Given the description of an element on the screen output the (x, y) to click on. 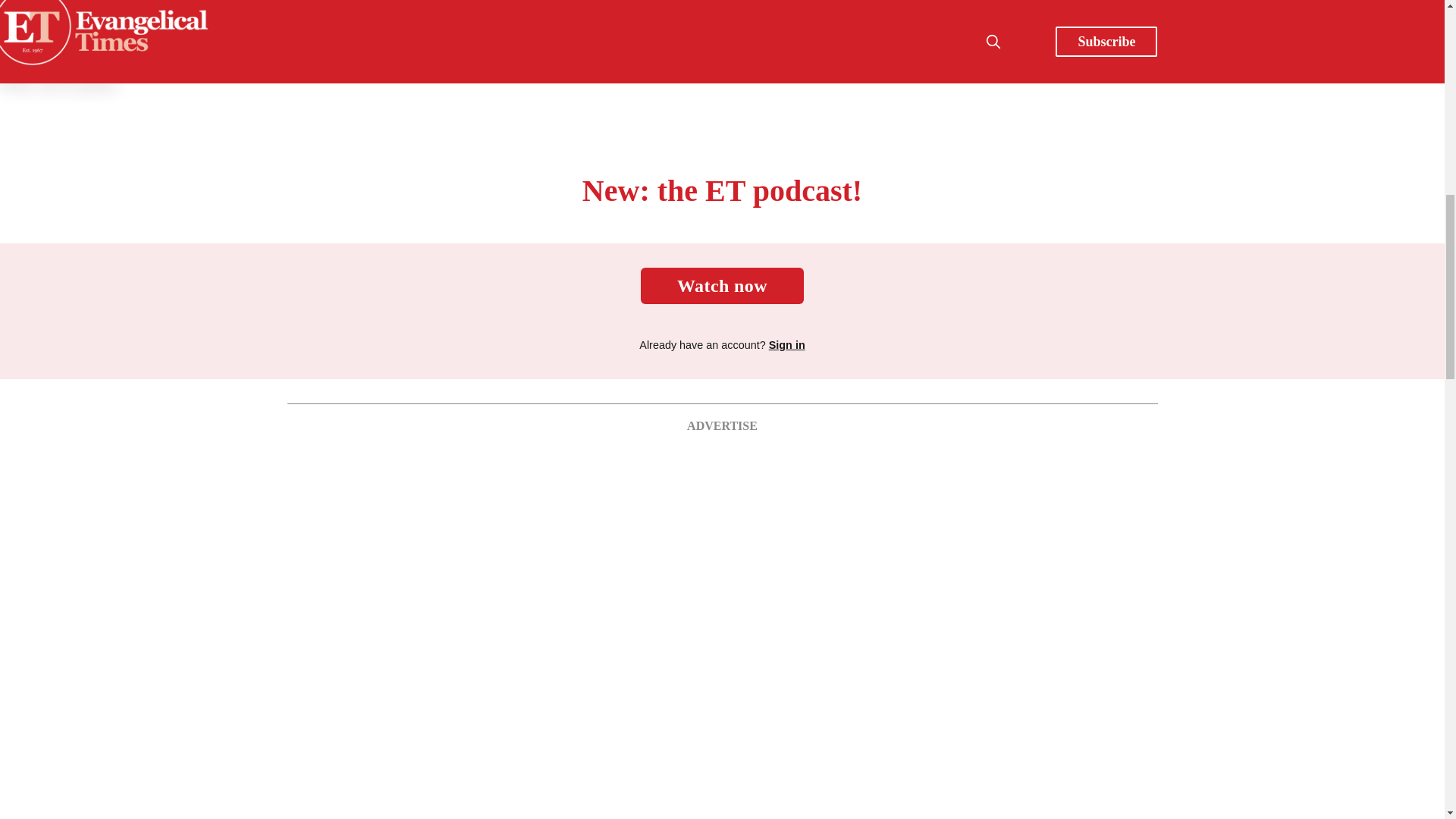
Watch now (721, 285)
Sign in (786, 345)
Read community guidelines (354, 41)
